Given the description of an element on the screen output the (x, y) to click on. 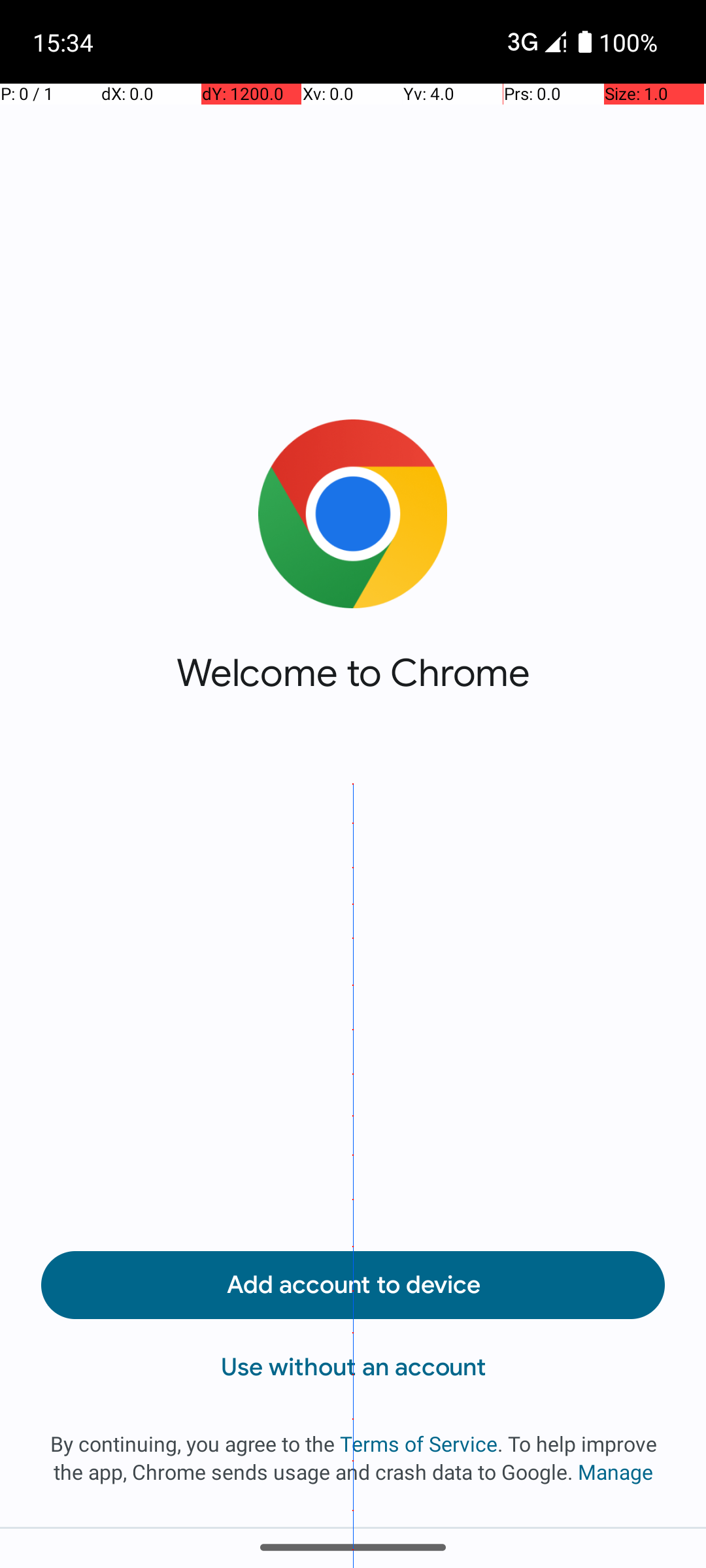
By continuing, you agree to the Terms of Service. To help improve the app, Chrome sends usage and crash data to Google. Manage Element type: android.widget.TextView (352, 1457)
Add account to device Element type: android.widget.Button (352, 1284)
Use without an account Element type: android.widget.Button (352, 1367)
